Given the description of an element on the screen output the (x, y) to click on. 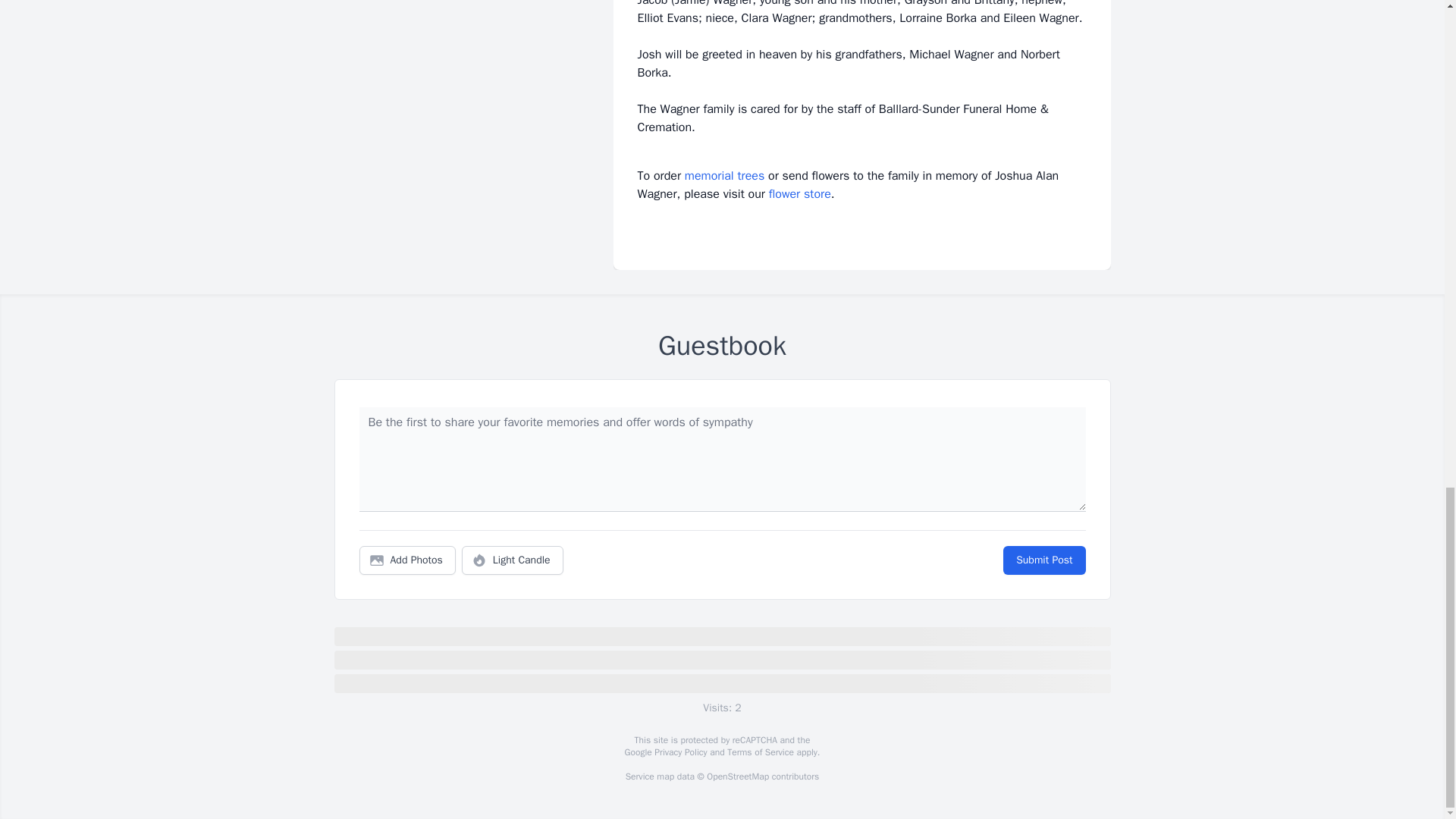
Light Candle (512, 560)
flower store (799, 193)
Terms of Service (759, 752)
memorial trees (724, 175)
Submit Post (1043, 560)
OpenStreetMap (737, 776)
Privacy Policy (679, 752)
Add Photos (407, 560)
